Given the description of an element on the screen output the (x, y) to click on. 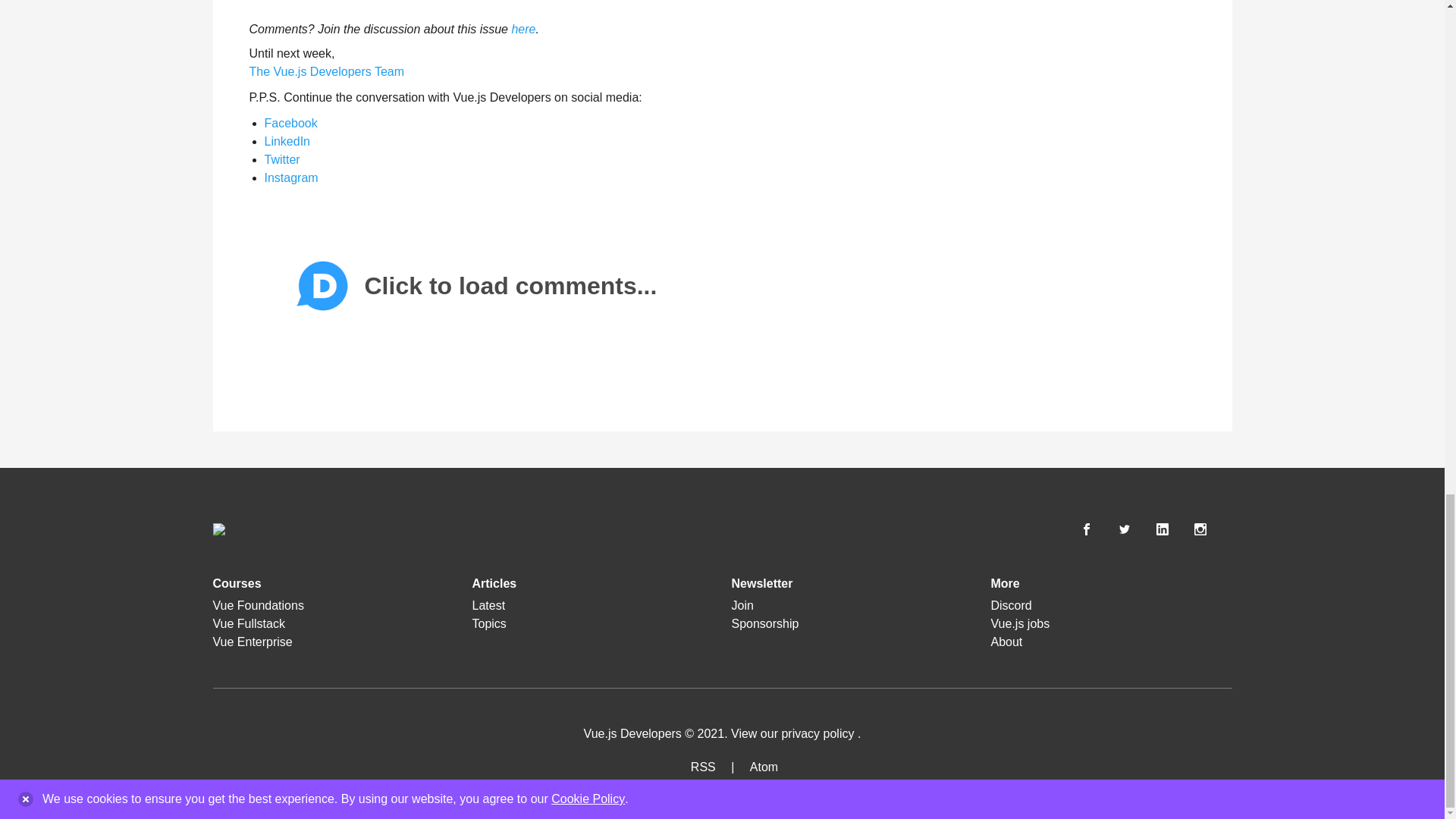
Facebook (290, 123)
here (523, 29)
The Vue.js Developers Team (326, 71)
